Given the description of an element on the screen output the (x, y) to click on. 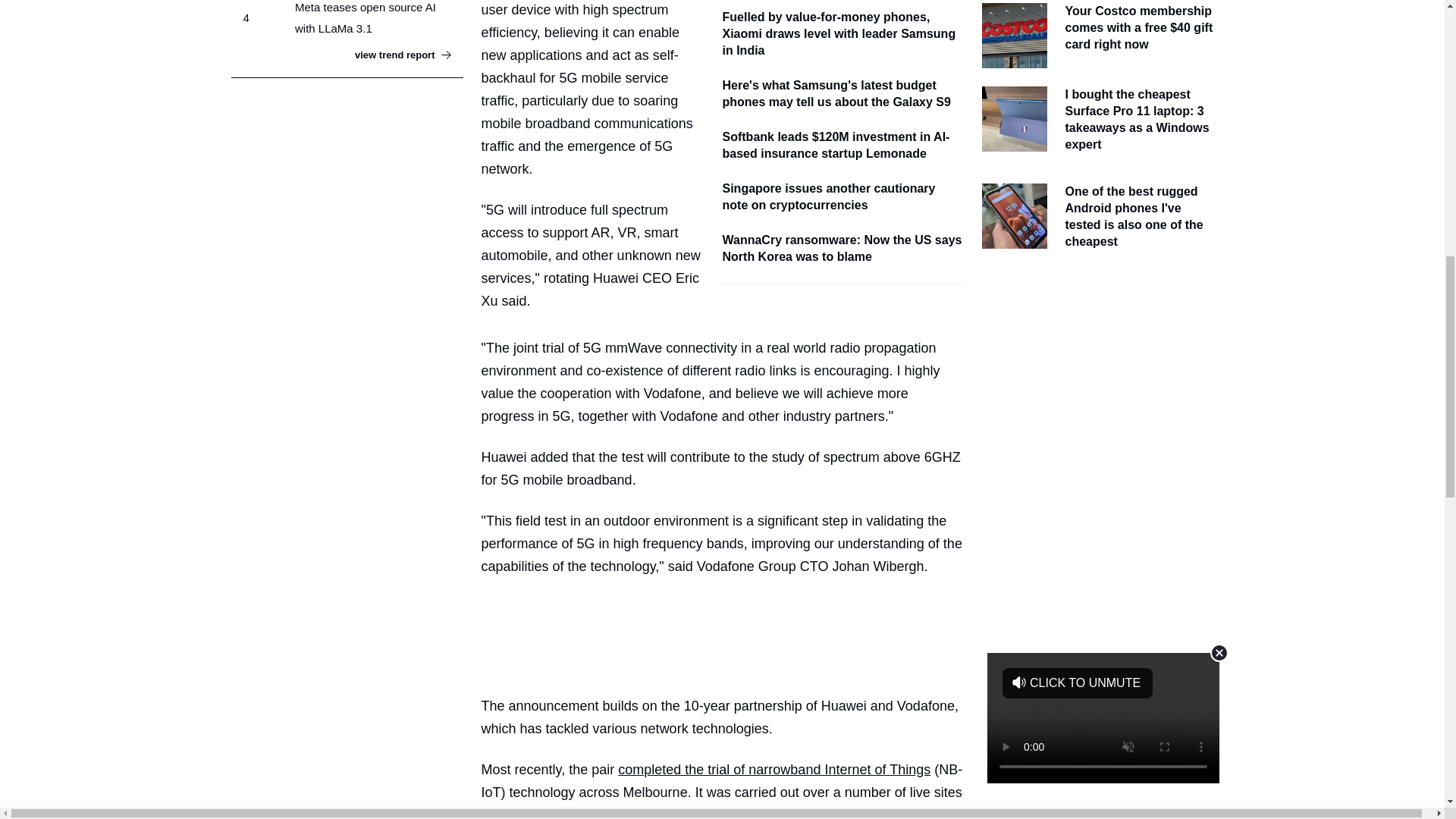
3rd party ad content (727, 635)
